Given the description of an element on the screen output the (x, y) to click on. 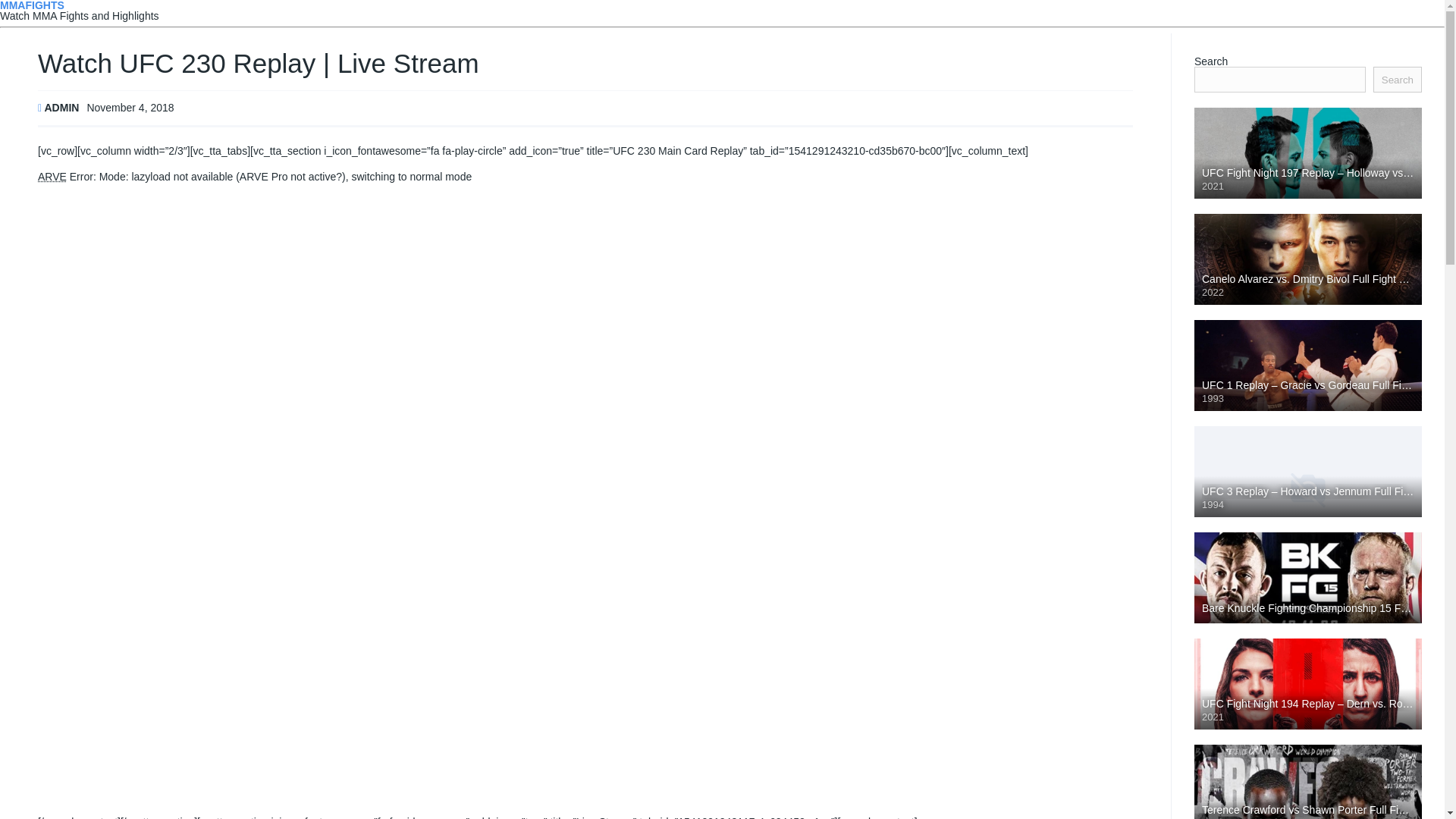
MMAFIGHTS (32, 5)
Search (1397, 79)
Advanced Responsive Video Embedder (51, 176)
